Given the description of an element on the screen output the (x, y) to click on. 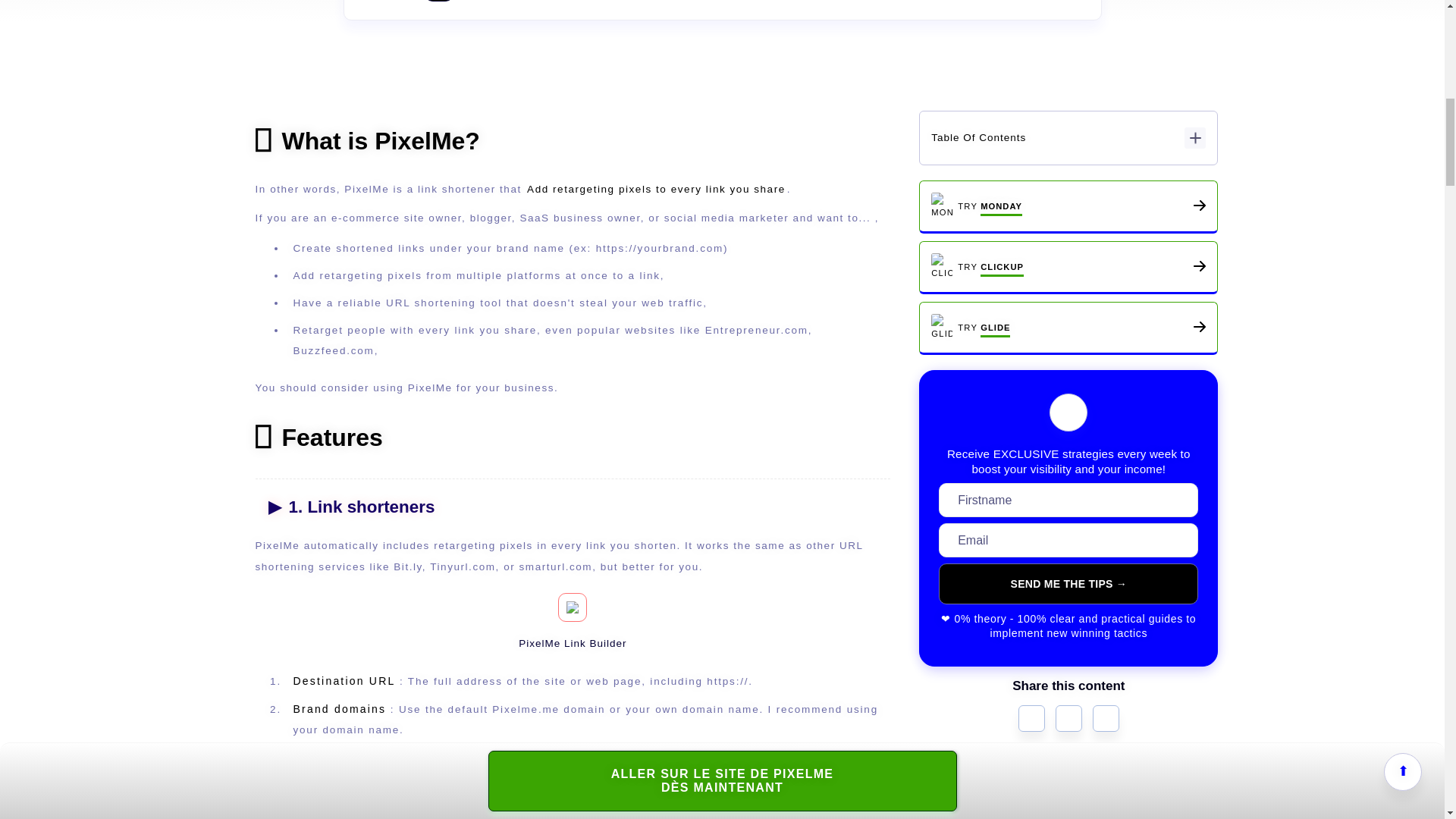
Tweet (1032, 718)
Share on LinkedIn (1068, 718)
Email (1106, 718)
